Given the description of an element on the screen output the (x, y) to click on. 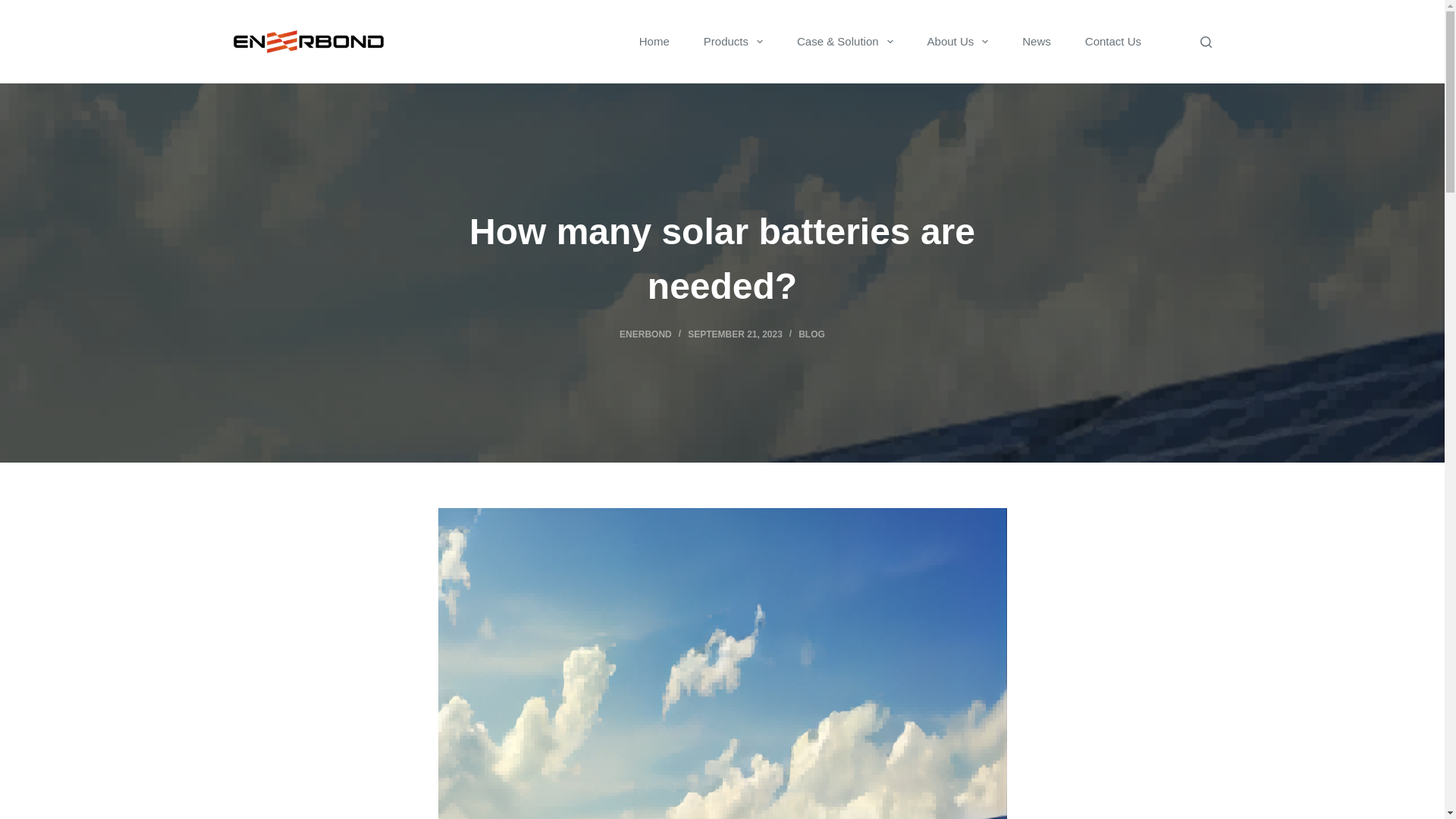
Skip to content (15, 7)
Posts by Enerbond (645, 334)
How many solar batteries are needed? (722, 258)
